Given the description of an element on the screen output the (x, y) to click on. 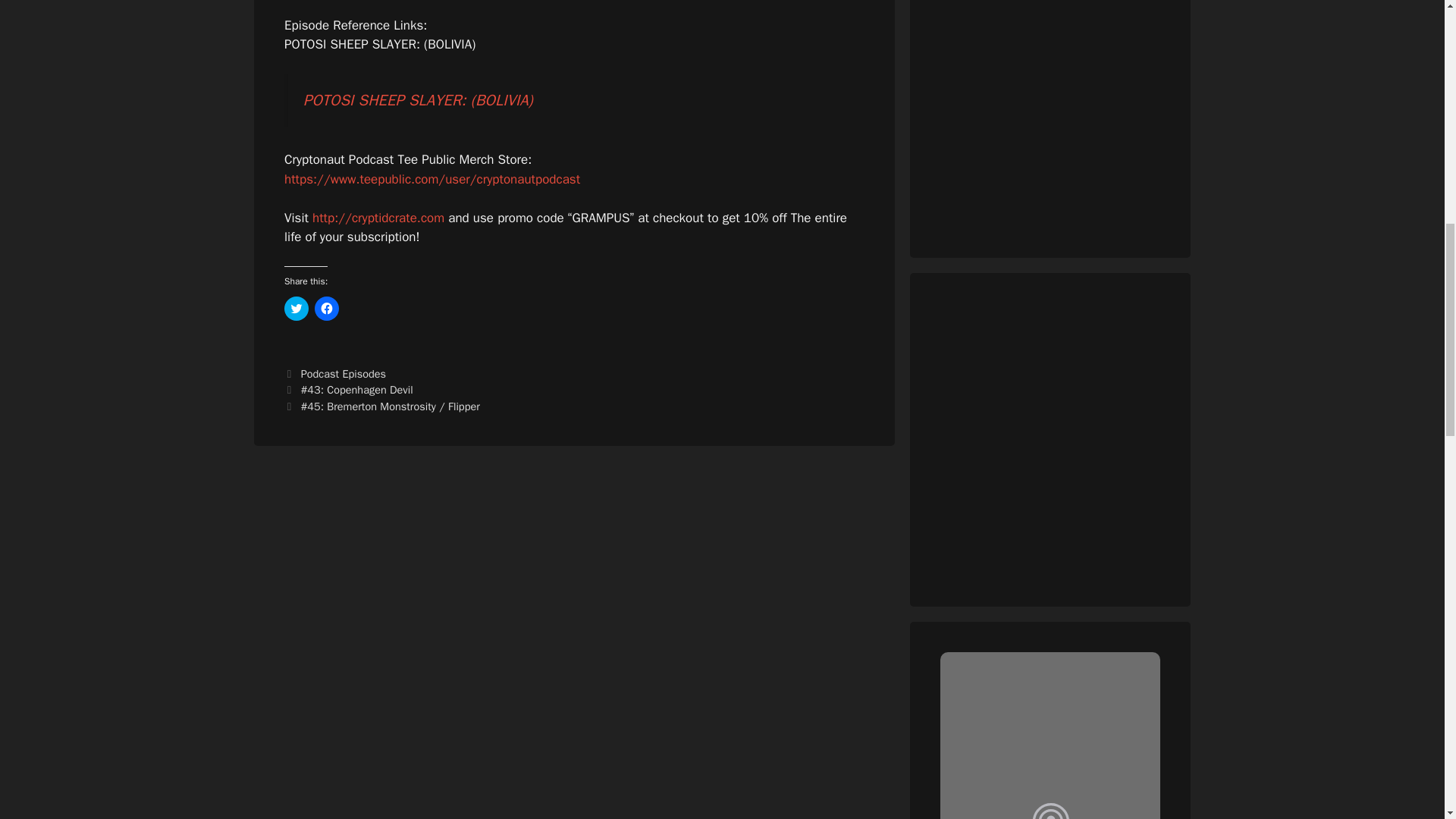
Podcast Episodes (343, 373)
Click to share on Twitter (295, 308)
Click to share on Facebook (326, 308)
